Given the description of an element on the screen output the (x, y) to click on. 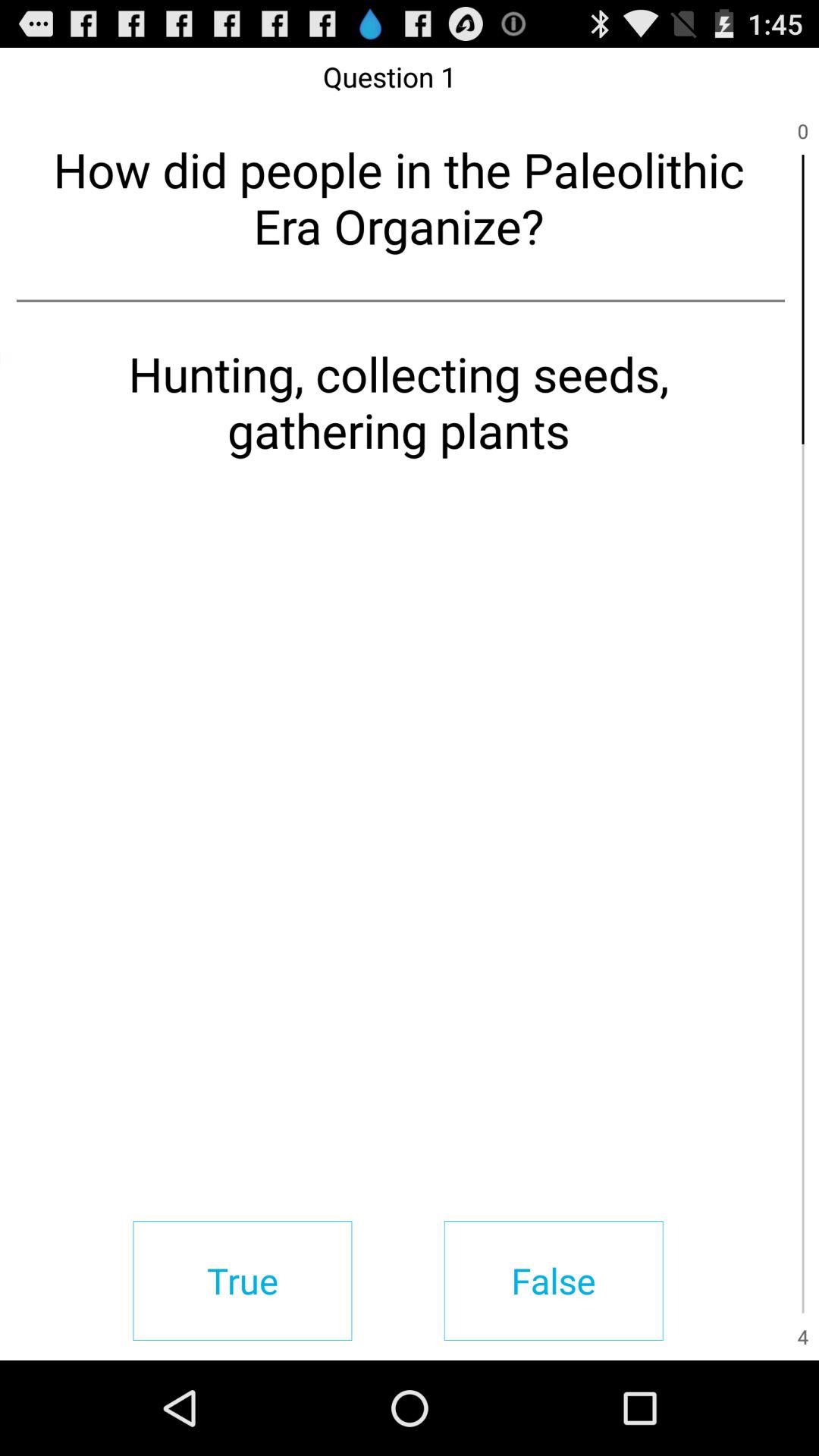
launch icon above the 4 item (802, 1167)
